Given the description of an element on the screen output the (x, y) to click on. 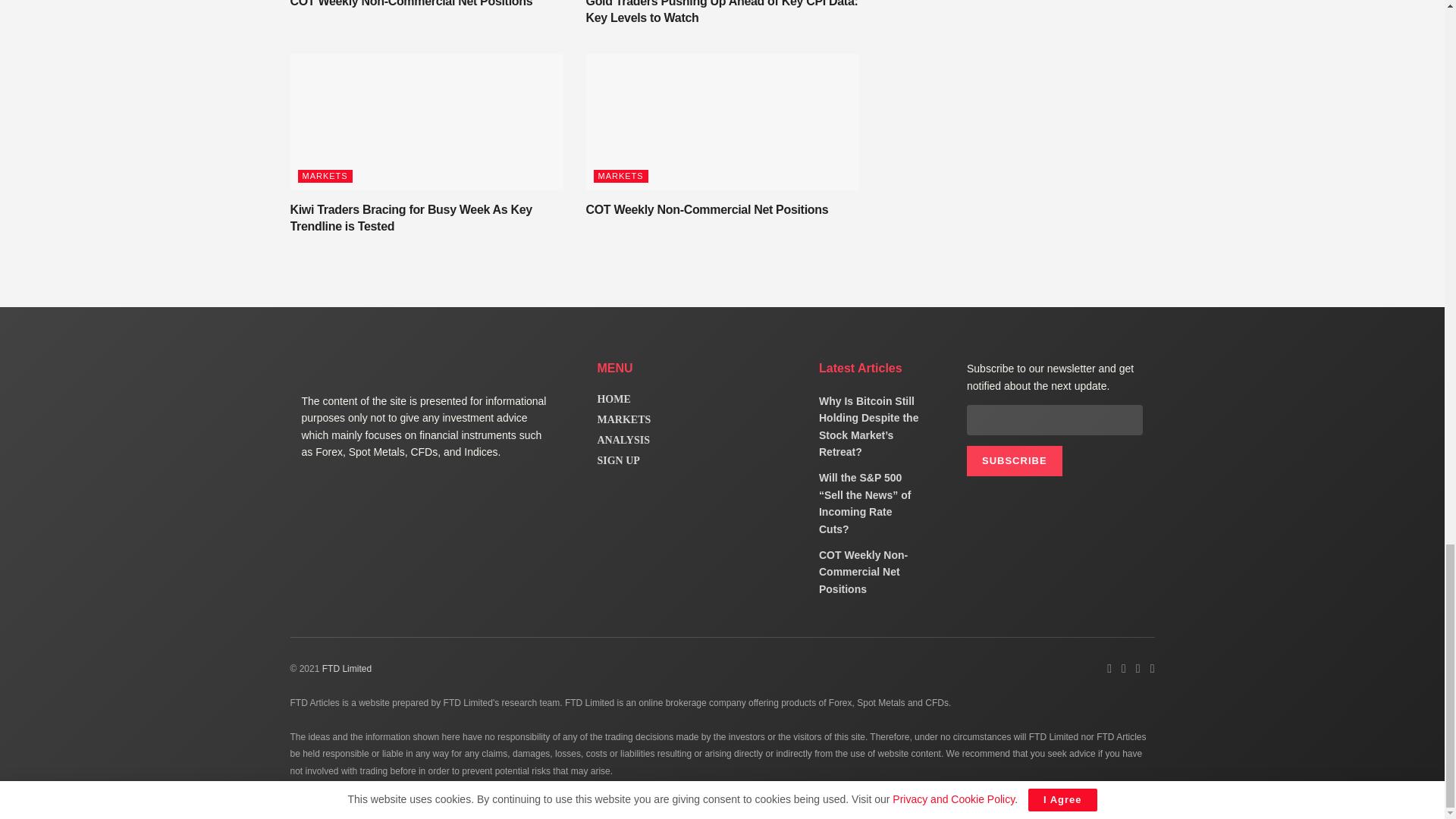
SUBSCRIBE (1014, 460)
FTD Limited (346, 668)
